Given the description of an element on the screen output the (x, y) to click on. 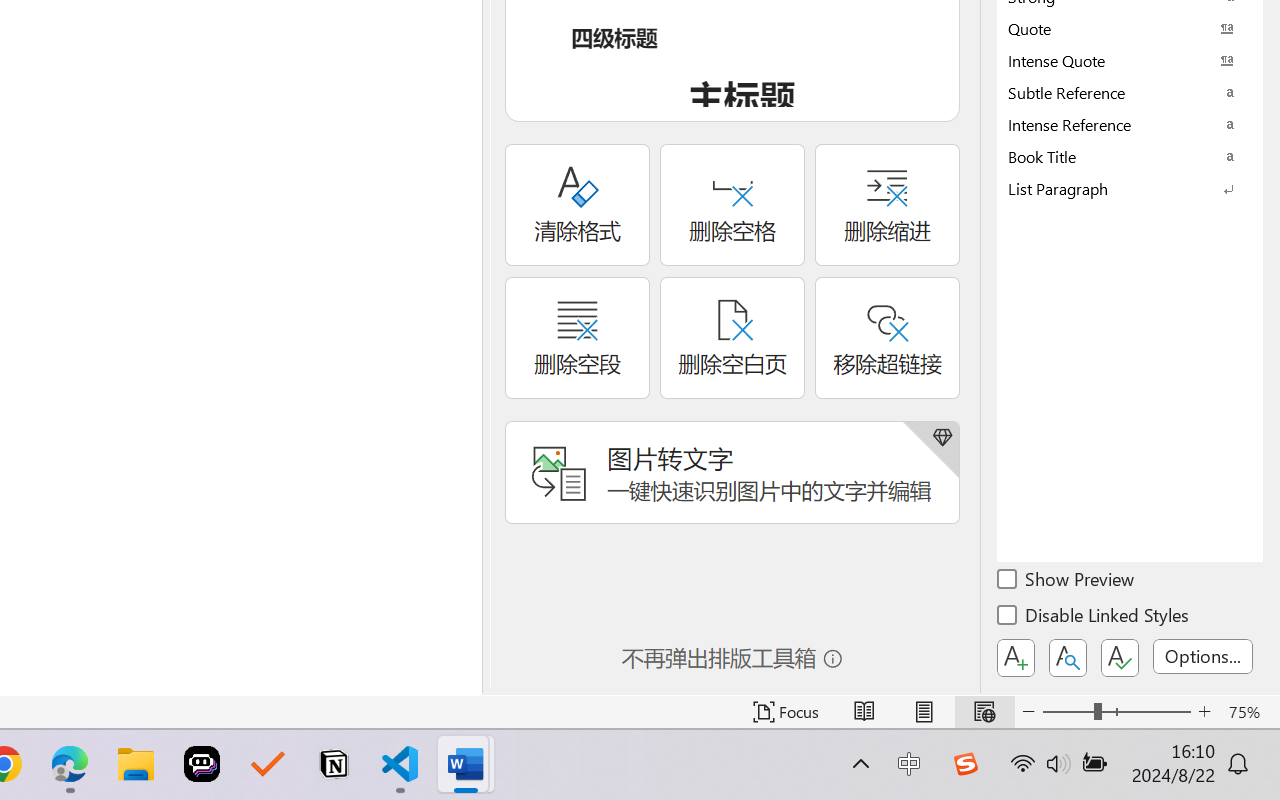
Intense Quote (1130, 60)
Zoom (1116, 712)
Subtle Reference (1130, 92)
Disable Linked Styles (1094, 618)
Focus  (786, 712)
Book Title (1130, 156)
